Given the description of an element on the screen output the (x, y) to click on. 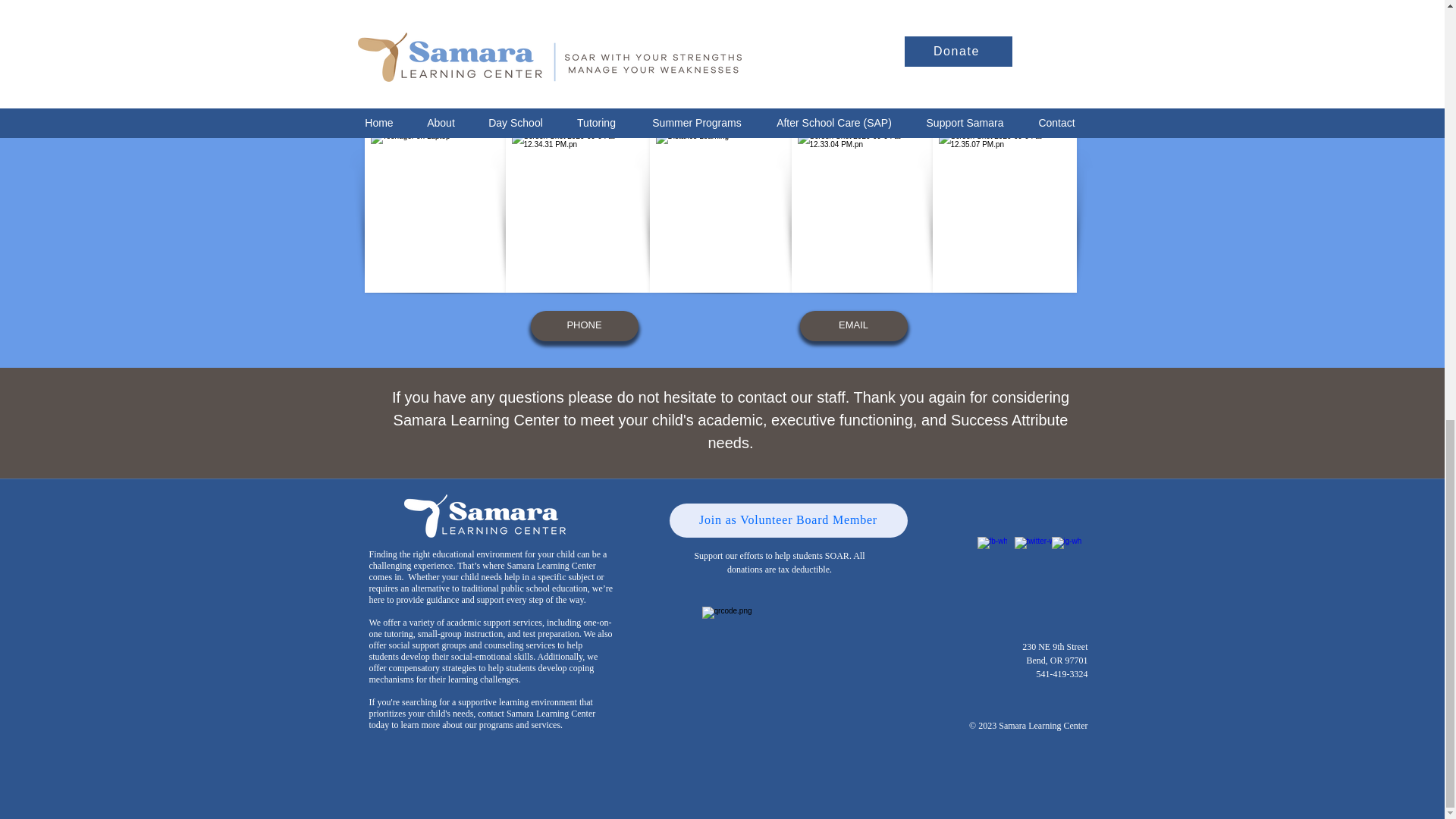
EMAIL (853, 326)
Screen Shot 2023-10-28 at 1.09.14 PM.png (780, 686)
PHONE (585, 326)
Join as Volunteer Board Member (787, 520)
ONLINE ENROLLMENT (593, 60)
